Given the description of an element on the screen output the (x, y) to click on. 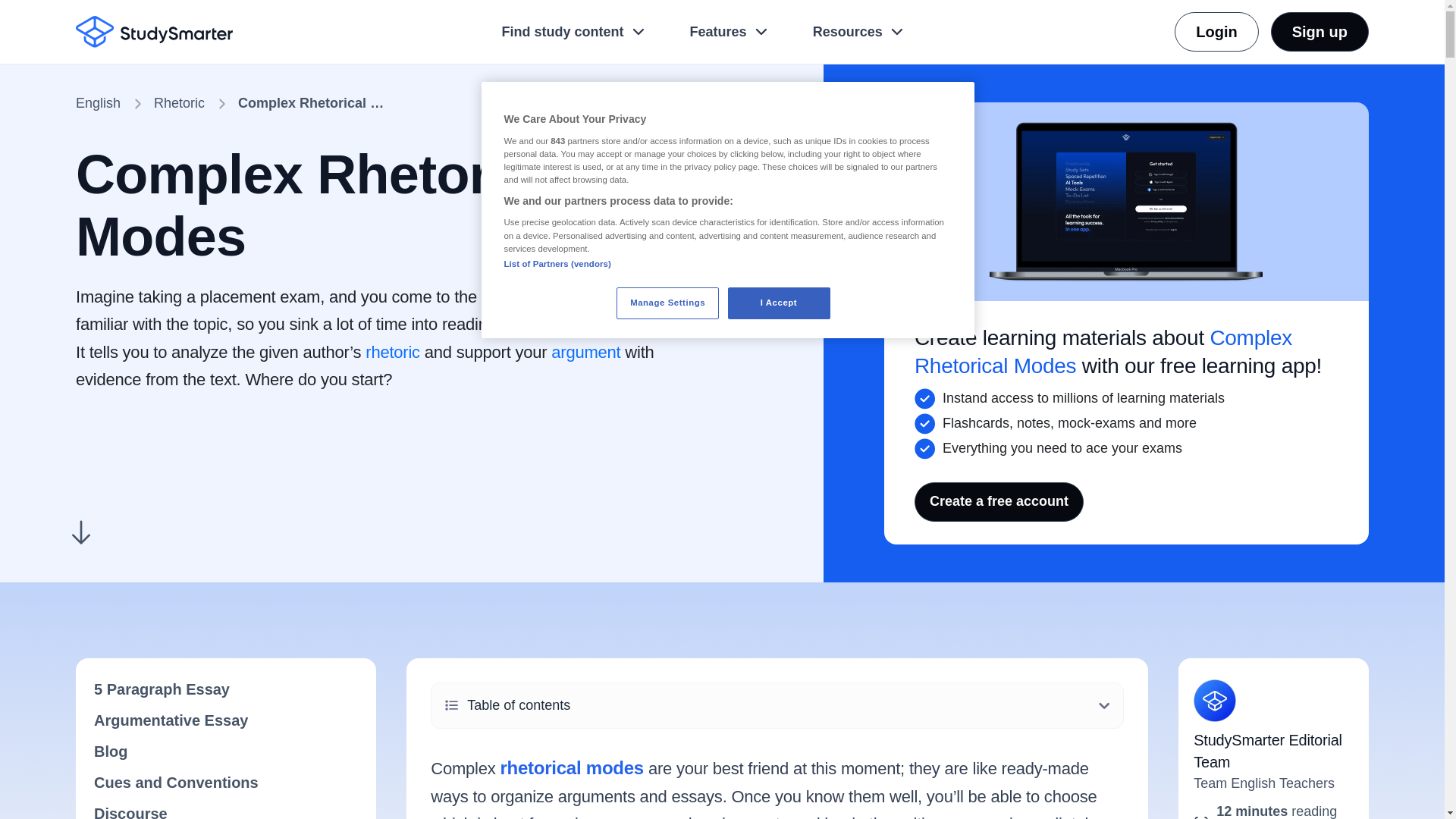
Find study content (574, 31)
English (97, 103)
Features (730, 31)
Rhetoric (179, 103)
